Given the description of an element on the screen output the (x, y) to click on. 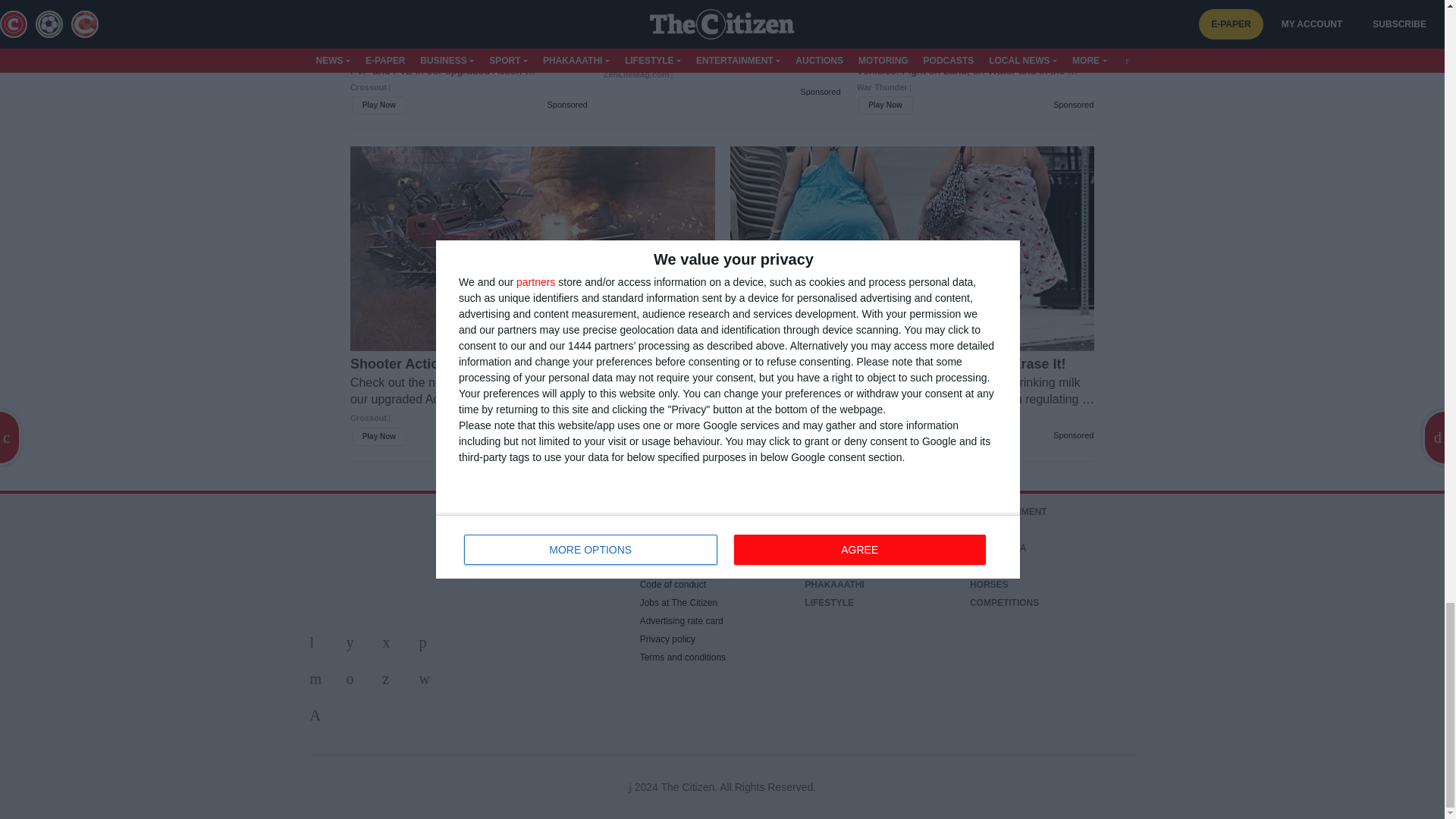
40 Anti Diabetes Foods You Need to Start Eating (722, 56)
Crossout: New Apocalyptic MMO (469, 69)
